Given the description of an element on the screen output the (x, y) to click on. 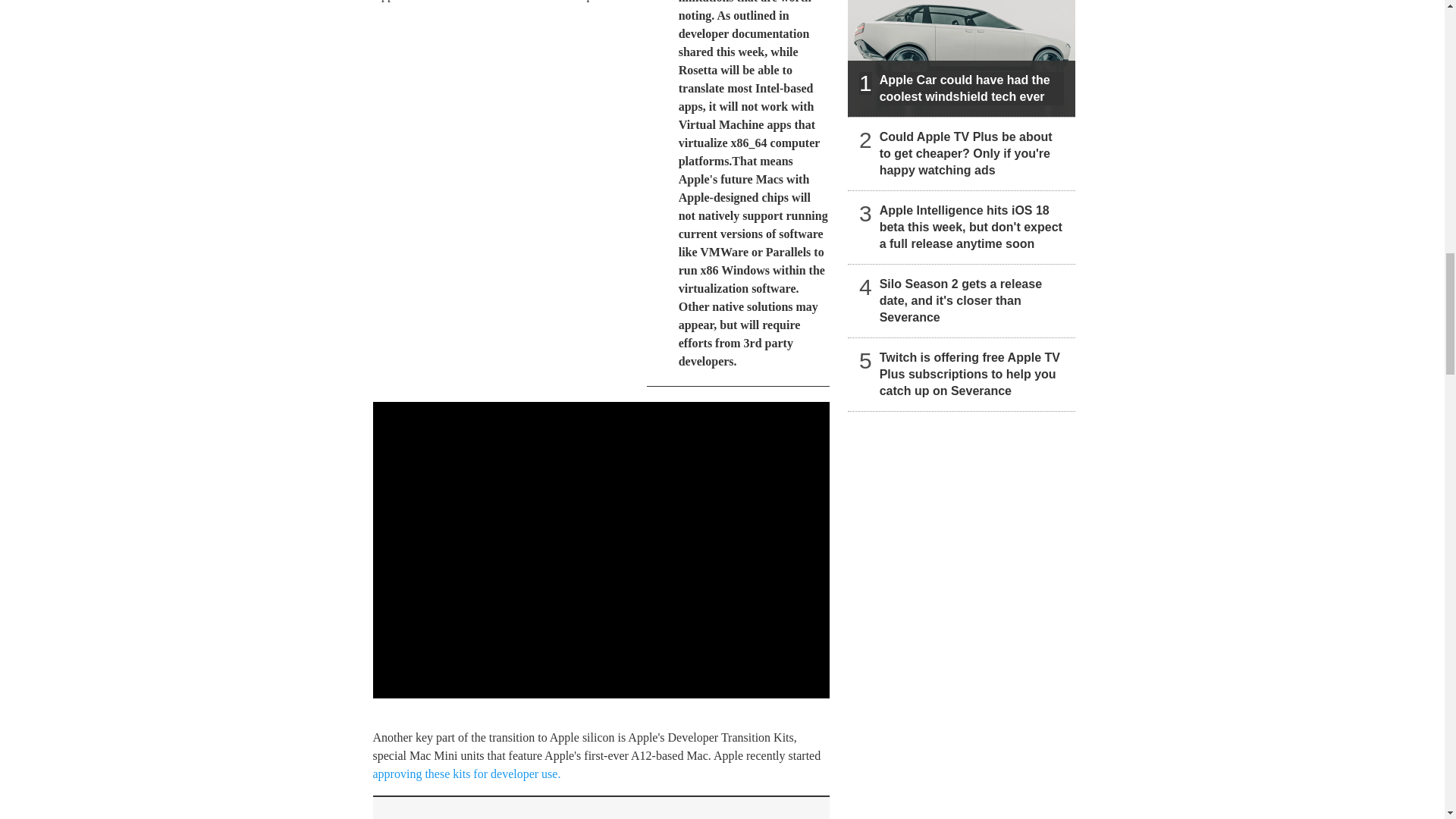
Apple Car could have had the coolest windshield tech ever (961, 58)
